Given the description of an element on the screen output the (x, y) to click on. 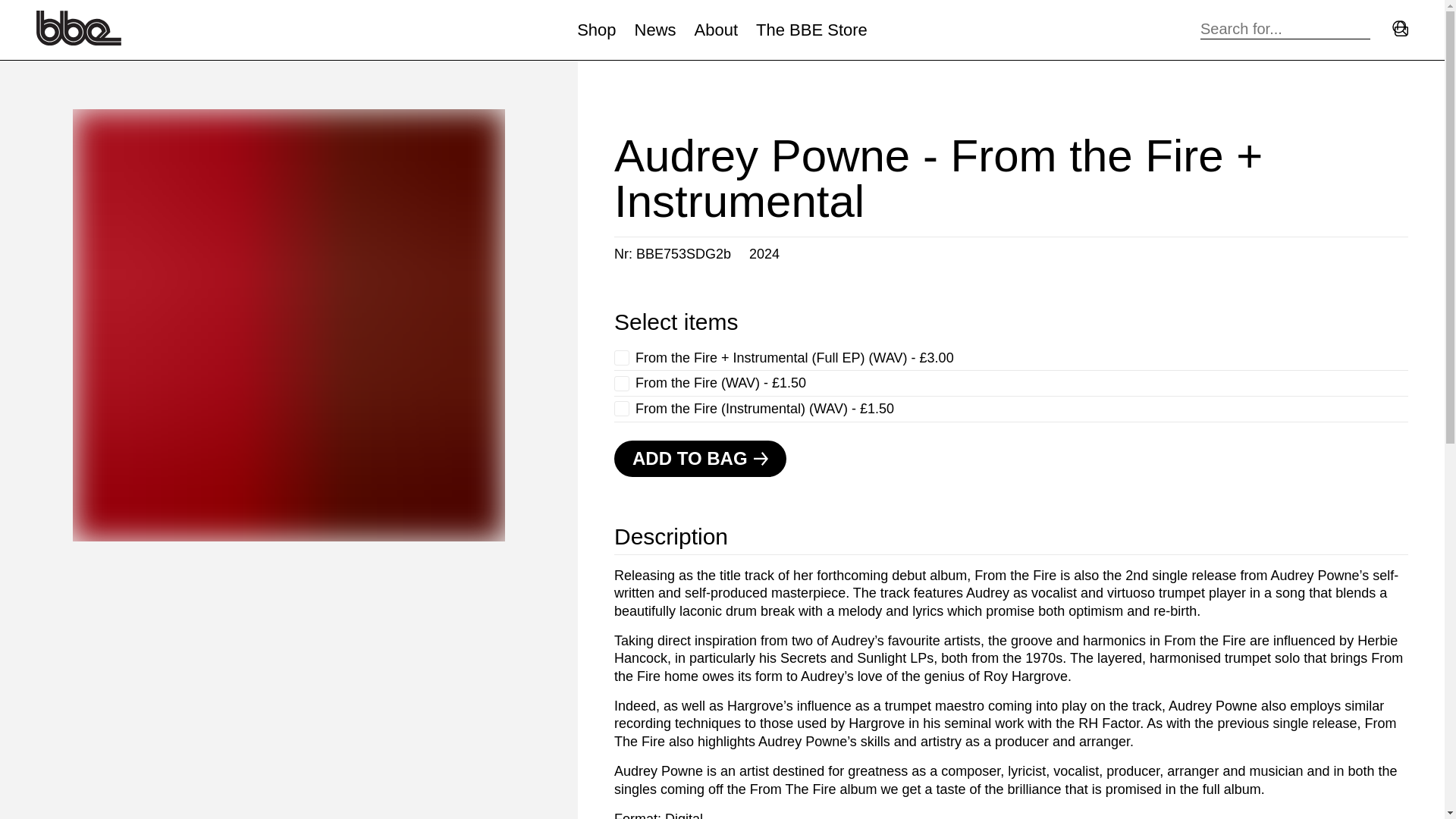
Shop (595, 29)
ADD TO BAG (700, 458)
About (716, 29)
News (655, 29)
The BBE Store (811, 29)
